Given the description of an element on the screen output the (x, y) to click on. 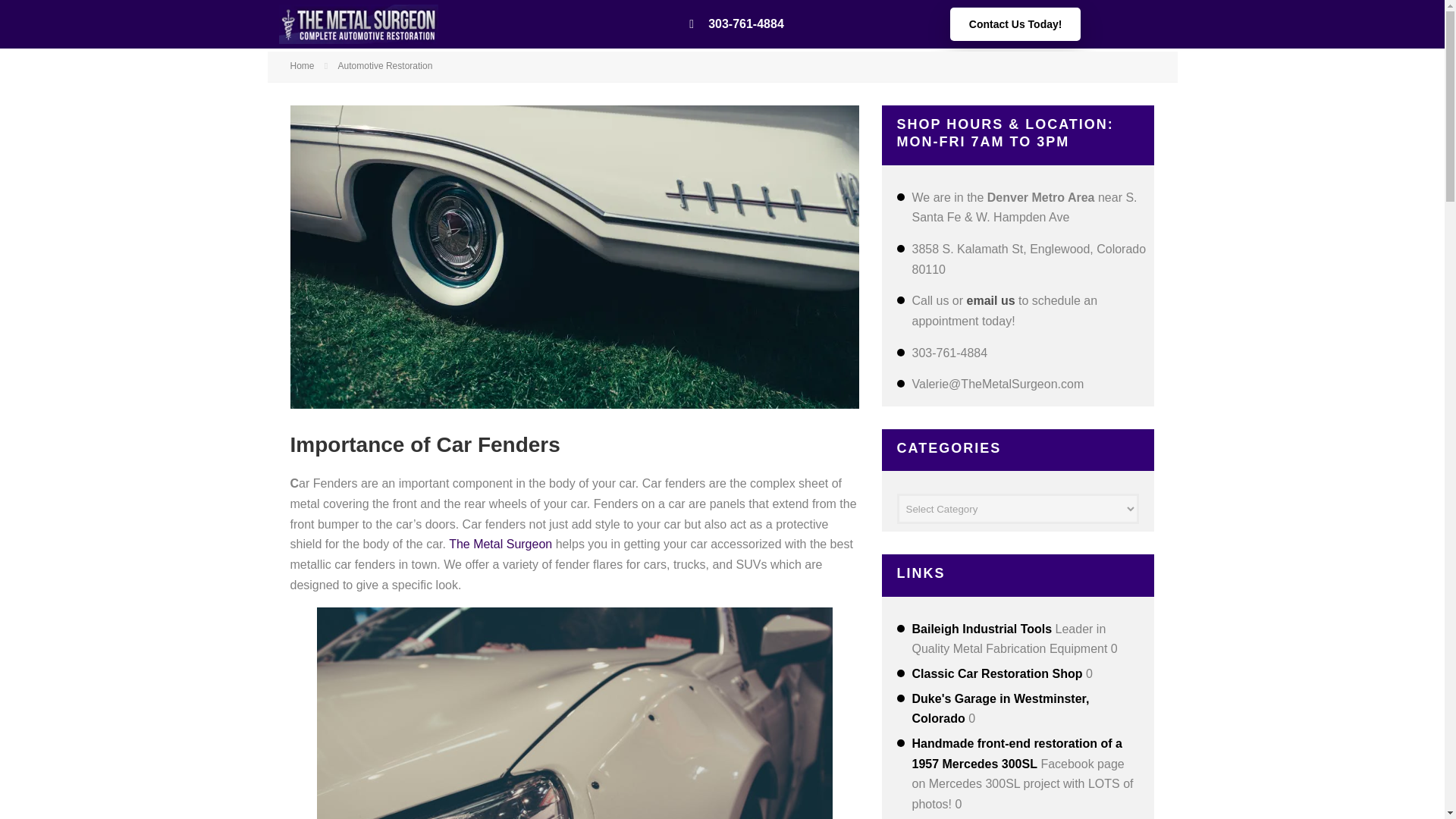
Duke's Garage in Westminster, Colorado (1000, 708)
Baileigh Industrial Tools (981, 628)
Handmade front-end restoration of a 1957 Mercedes 300SL (1016, 753)
email us (990, 300)
Classic Car Restoration Shop (996, 673)
Facebook page on Mercedes 300SL project with LOTS of photos! (1016, 753)
303-761-4884 (736, 24)
Leader in Quality Metal Fabrication Equipment (981, 628)
The Metal Surgeon (499, 543)
Home (301, 65)
Contact Us Today! (1015, 23)
Automotive Restoration (384, 65)
